Given the description of an element on the screen output the (x, y) to click on. 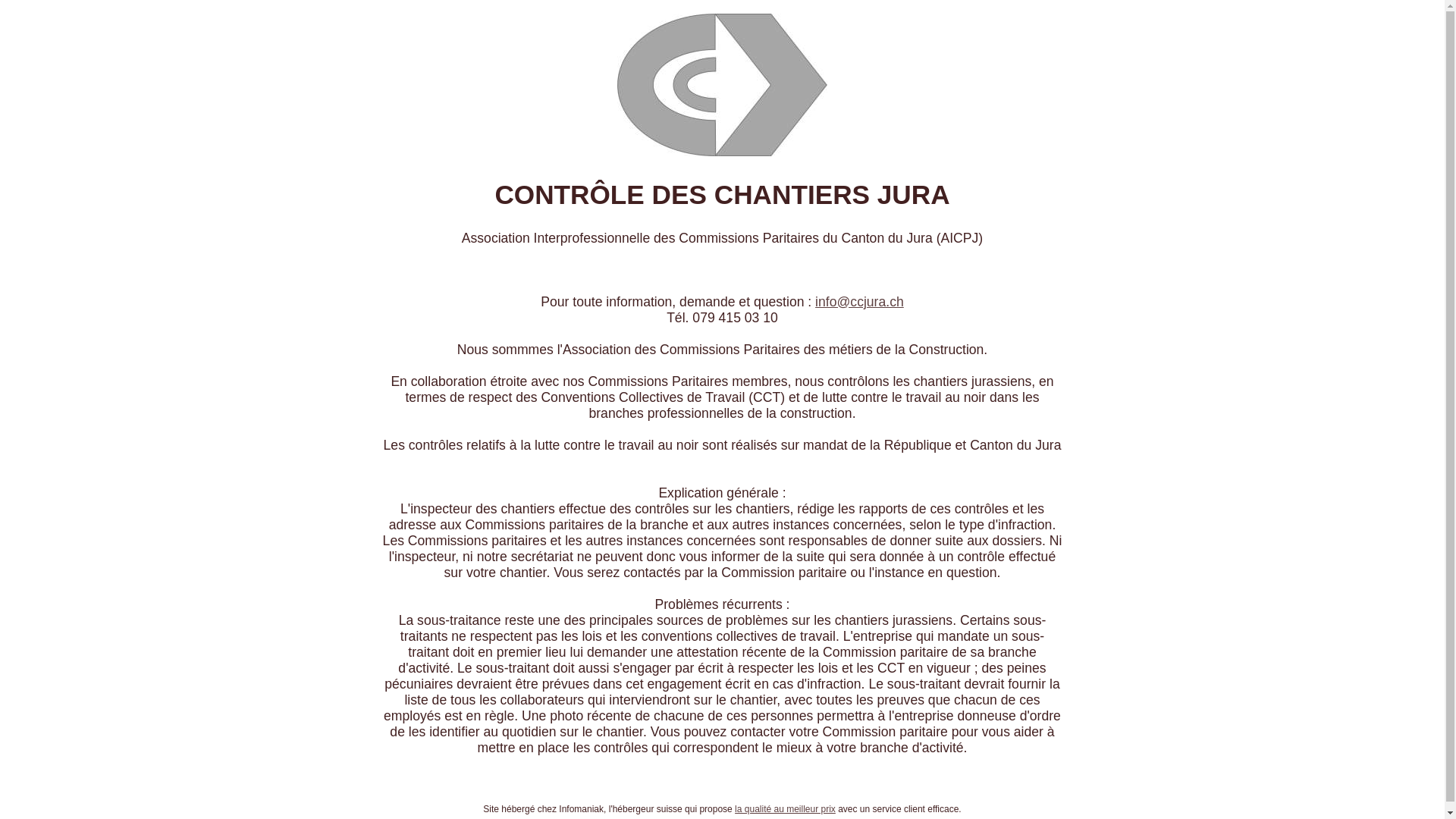
info@ccjura.ch Element type: text (859, 301)
